Given the description of an element on the screen output the (x, y) to click on. 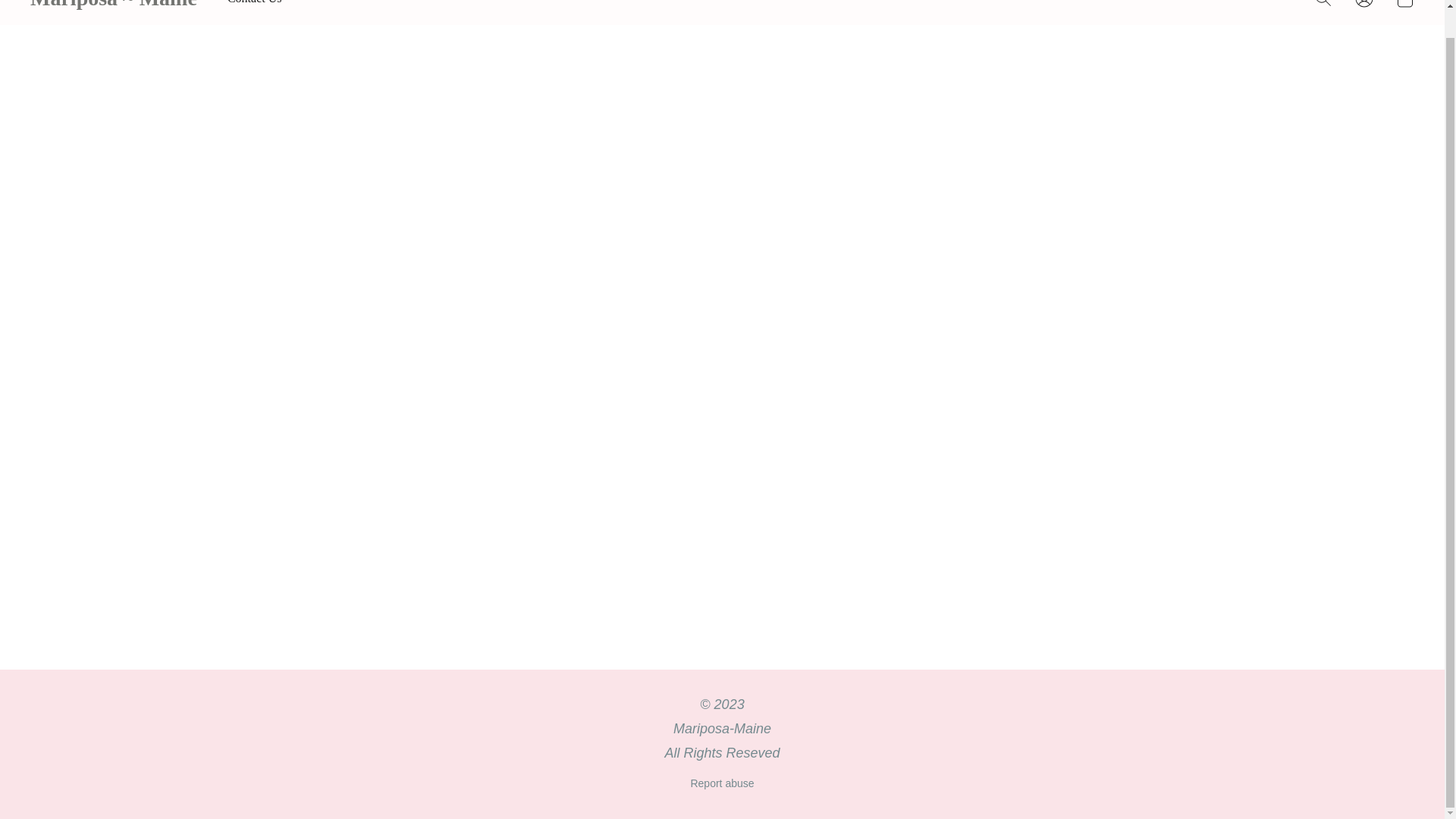
Contact Us (254, 6)
Search the website (1323, 7)
Report abuse (722, 782)
Go to your shopping cart (1404, 7)
